Given the description of an element on the screen output the (x, y) to click on. 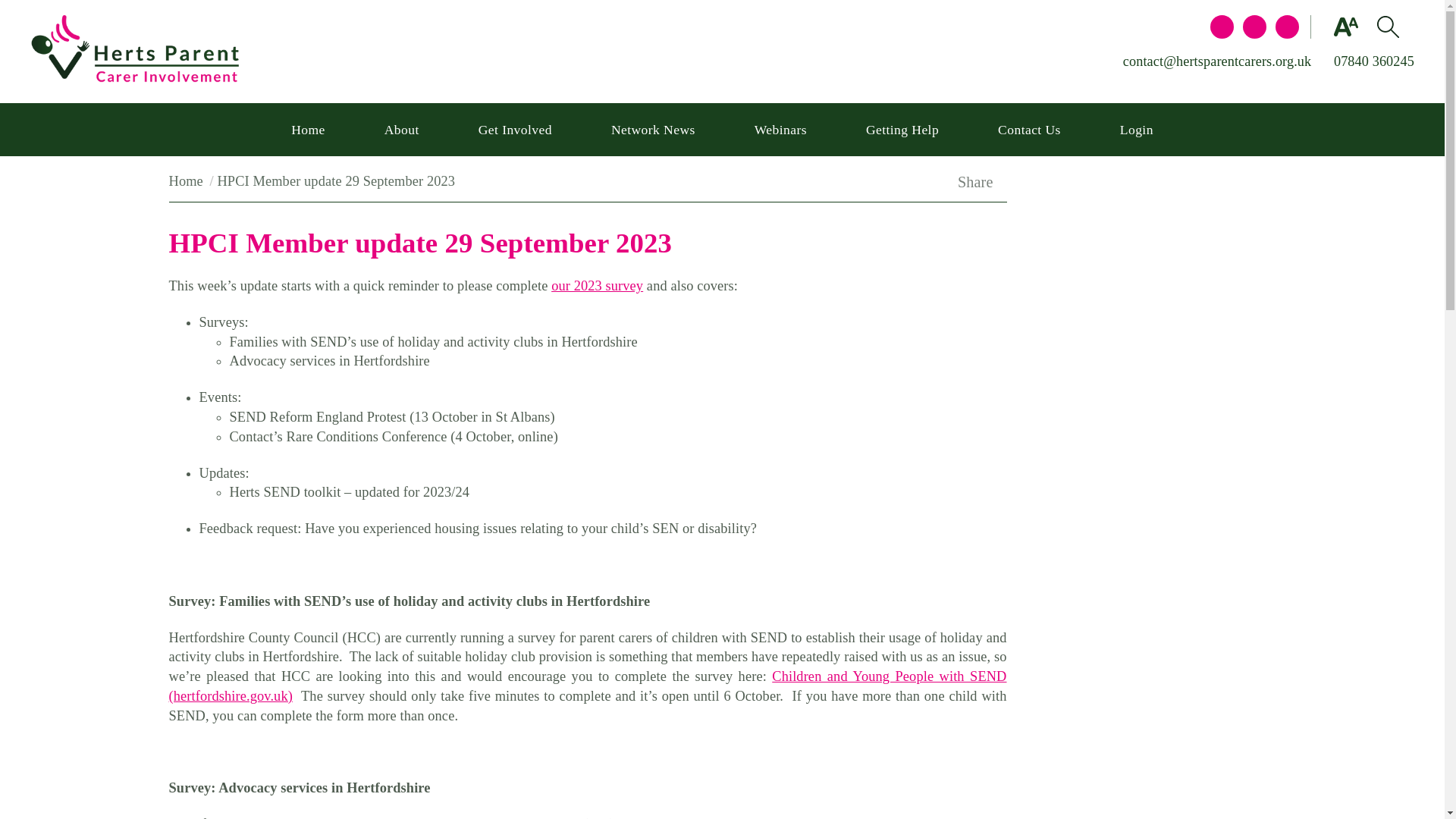
Contact Us (1029, 129)
07840 360245 (1373, 61)
Home (185, 181)
Webinars (780, 129)
rss (1286, 26)
Getting Help (901, 129)
About (401, 129)
Login (1136, 129)
Network News (652, 129)
Home (308, 129)
